Given the description of an element on the screen output the (x, y) to click on. 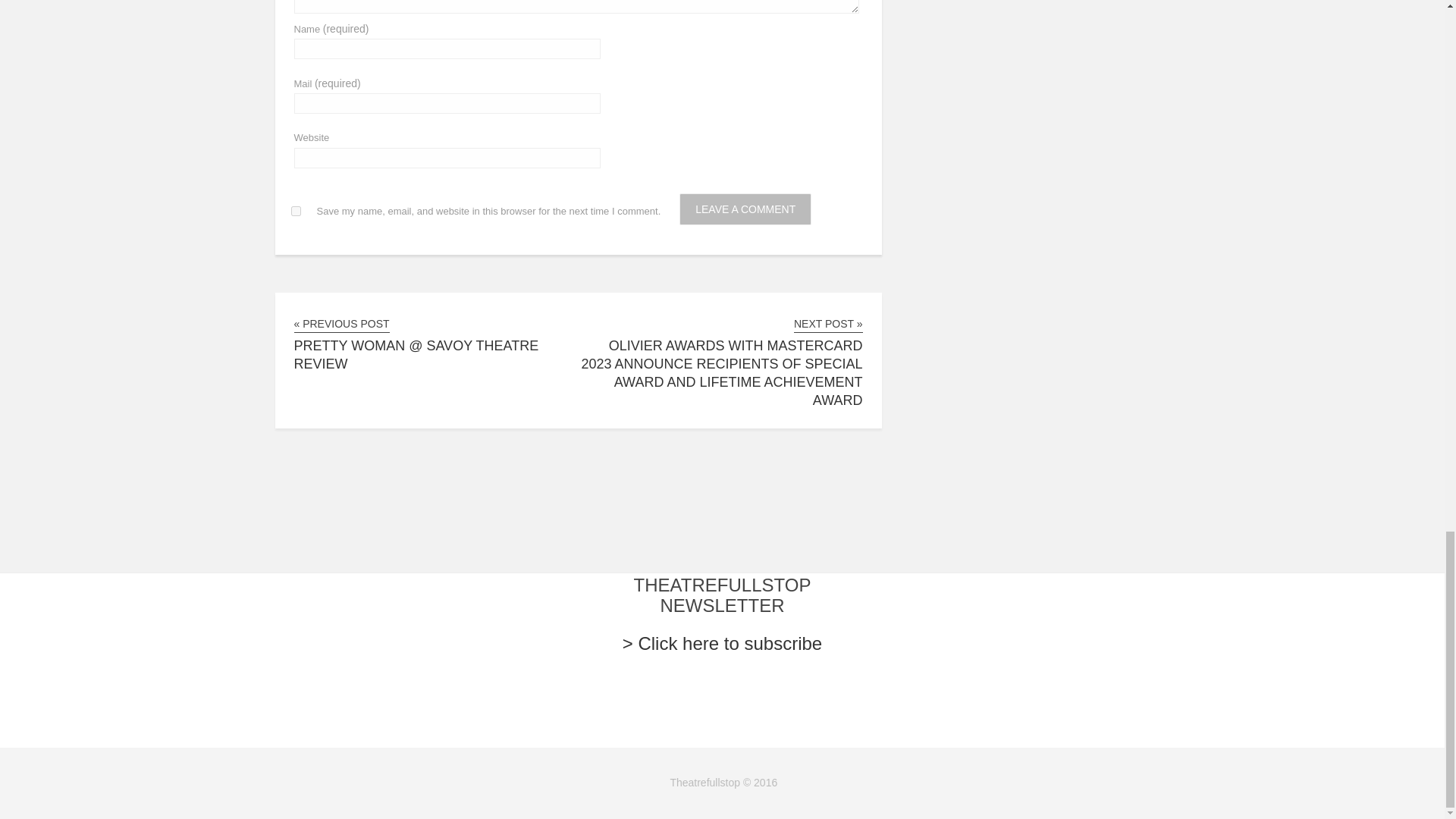
Leave a Comment (744, 209)
yes (295, 211)
